Given the description of an element on the screen output the (x, y) to click on. 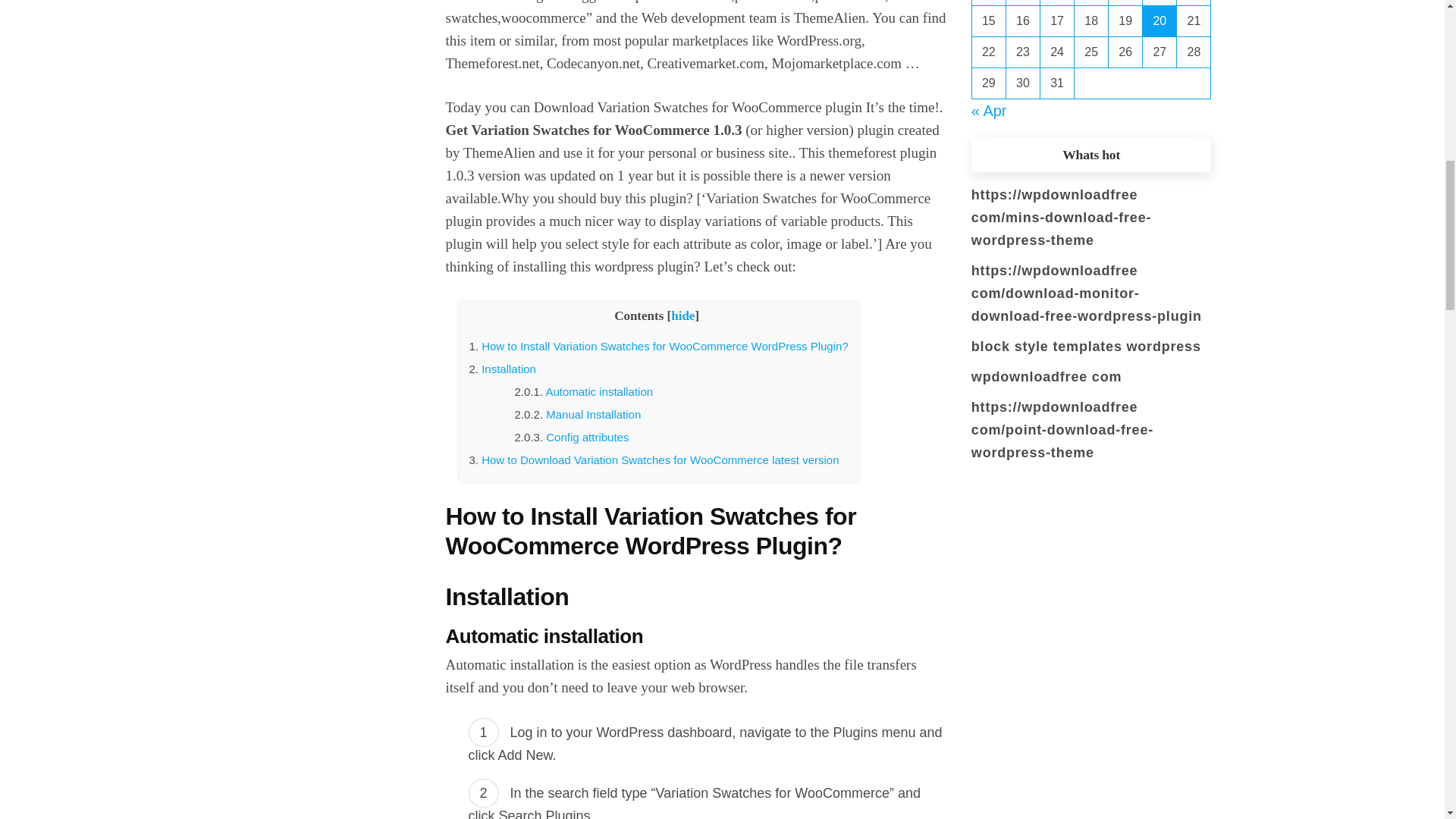
Manual Installation (593, 413)
Automatic installation (598, 391)
Config attributes (587, 436)
hide (682, 315)
Installation (508, 368)
